Given the description of an element on the screen output the (x, y) to click on. 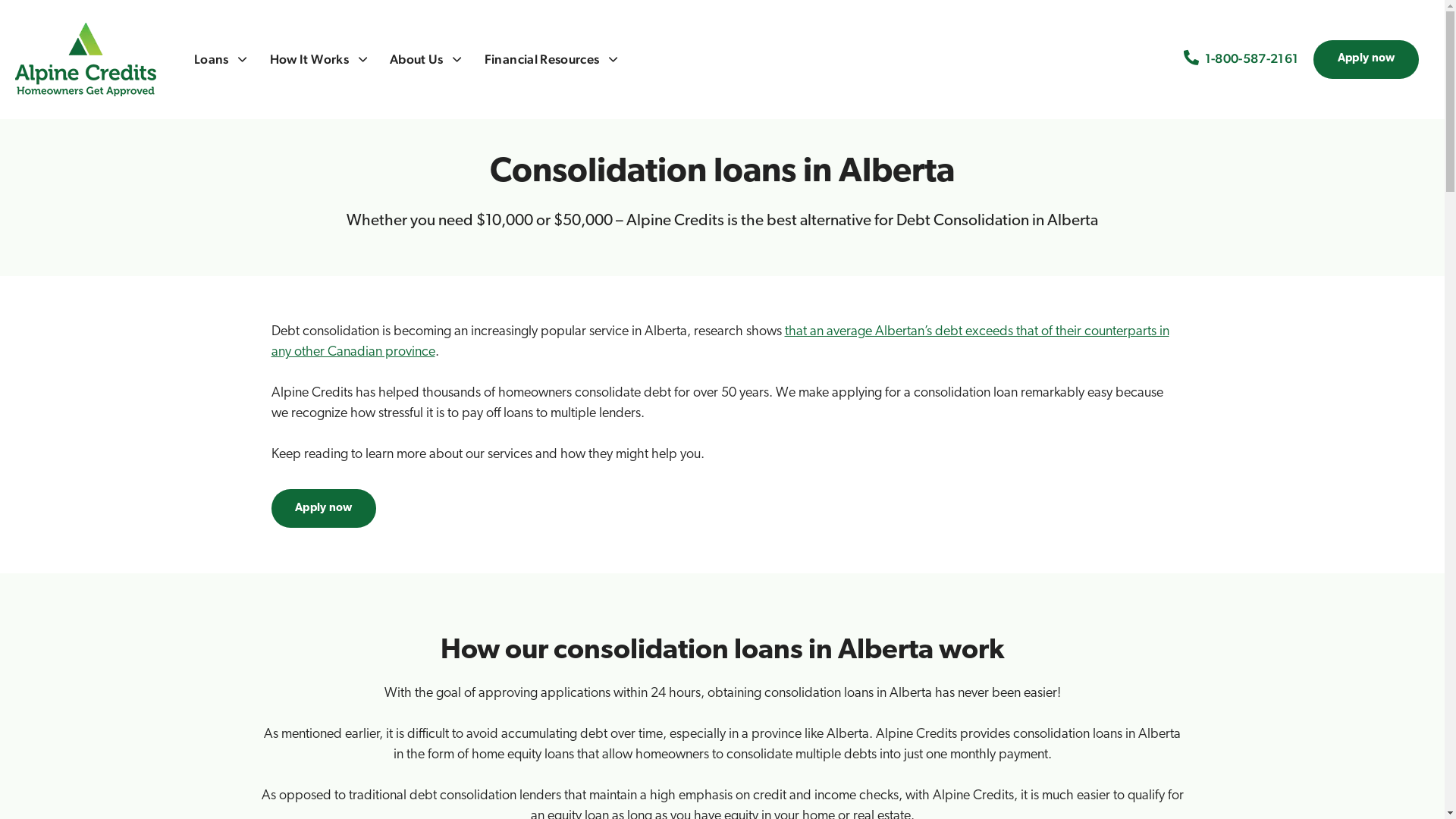
About Us Element type: text (425, 59)
Apply now Element type: text (1365, 59)
Apply now Element type: text (323, 508)
How It Works Element type: text (318, 59)
1-800-587-2161 Element type: text (1251, 59)
Financial Resources Element type: text (551, 59)
Loans Element type: text (220, 59)
